Given the description of an element on the screen output the (x, y) to click on. 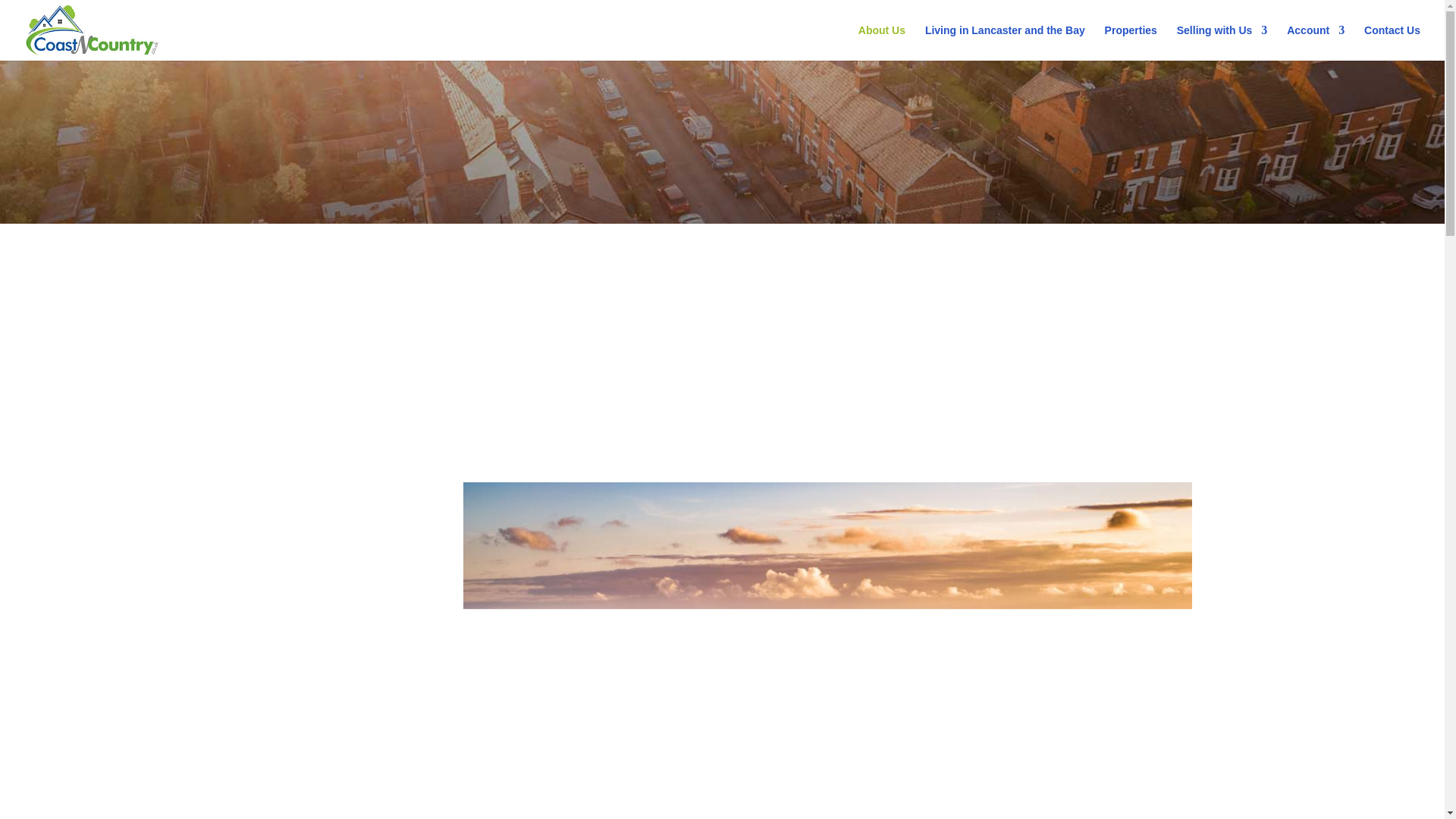
Contact Us (1392, 42)
About Us (882, 42)
Living in Lancaster and the Bay (1004, 42)
Properties (1131, 42)
Selling with Us (1222, 42)
Account (1315, 42)
